Given the description of an element on the screen output the (x, y) to click on. 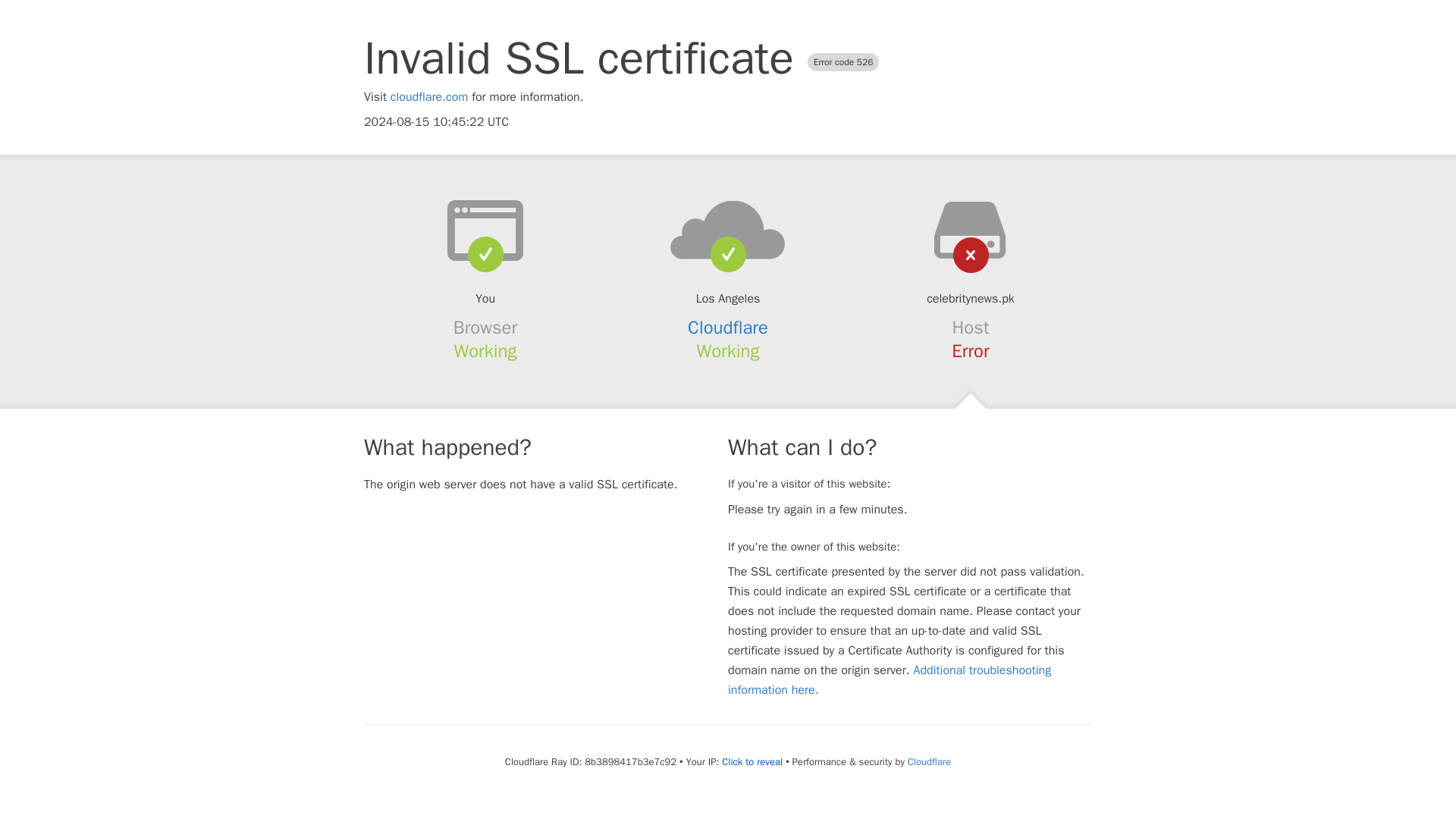
Cloudflare (928, 761)
Additional troubleshooting information here. (889, 679)
Cloudflare (727, 327)
cloudflare.com (429, 96)
Click to reveal (752, 762)
